Given the description of an element on the screen output the (x, y) to click on. 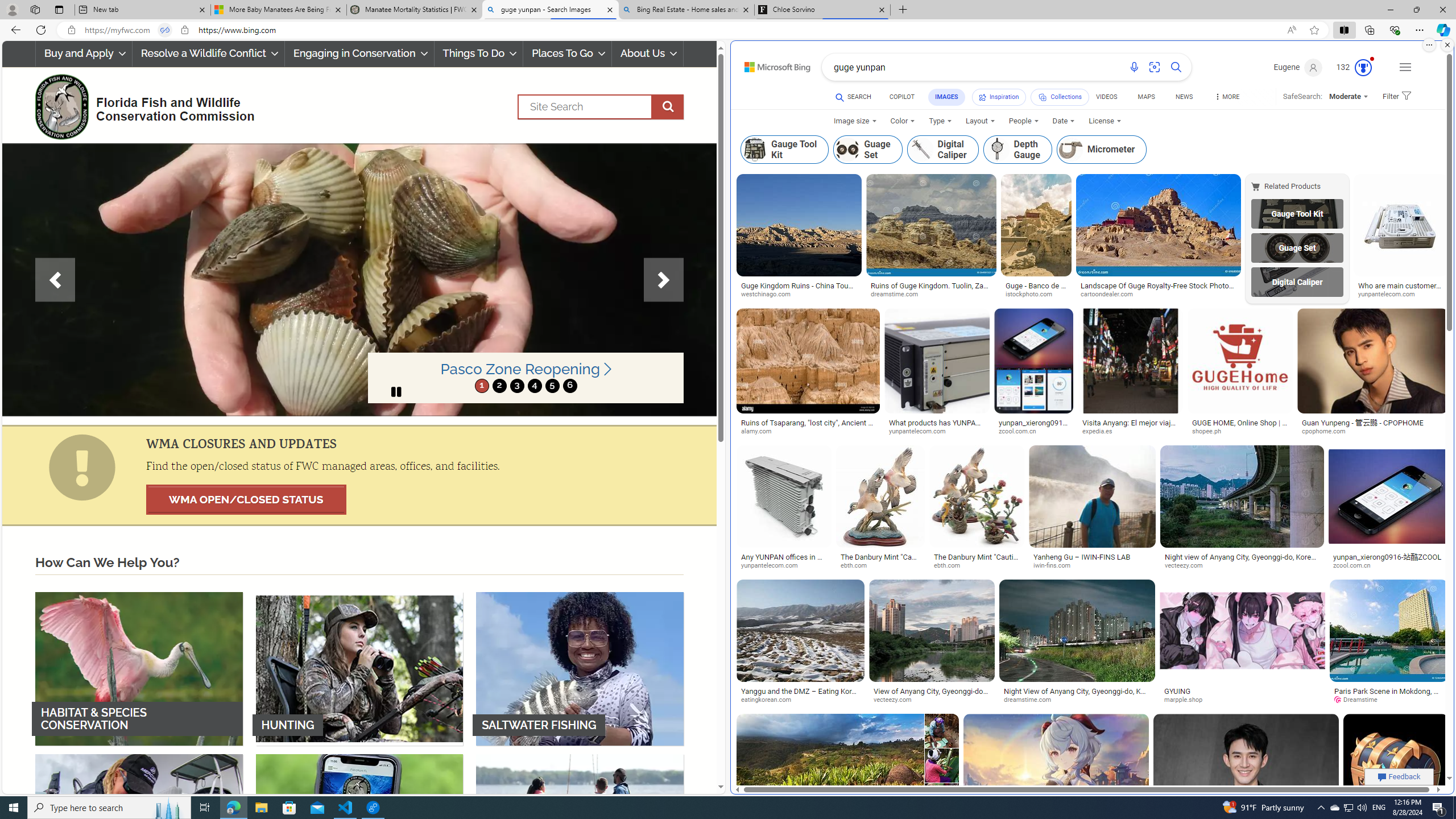
Dropdown Menu (1226, 96)
Buy and Apply (83, 53)
Gauge Tool Kit (1296, 213)
shopee.ph (1240, 431)
Settings and quick links (1404, 67)
Chloe Sorvino (822, 9)
GUGE HOME, Online Shop | Shopee Philippines (1240, 426)
Tabs in split screen (164, 29)
zcool.com.cn (1355, 565)
Micrometer (1070, 149)
